Given the description of an element on the screen output the (x, y) to click on. 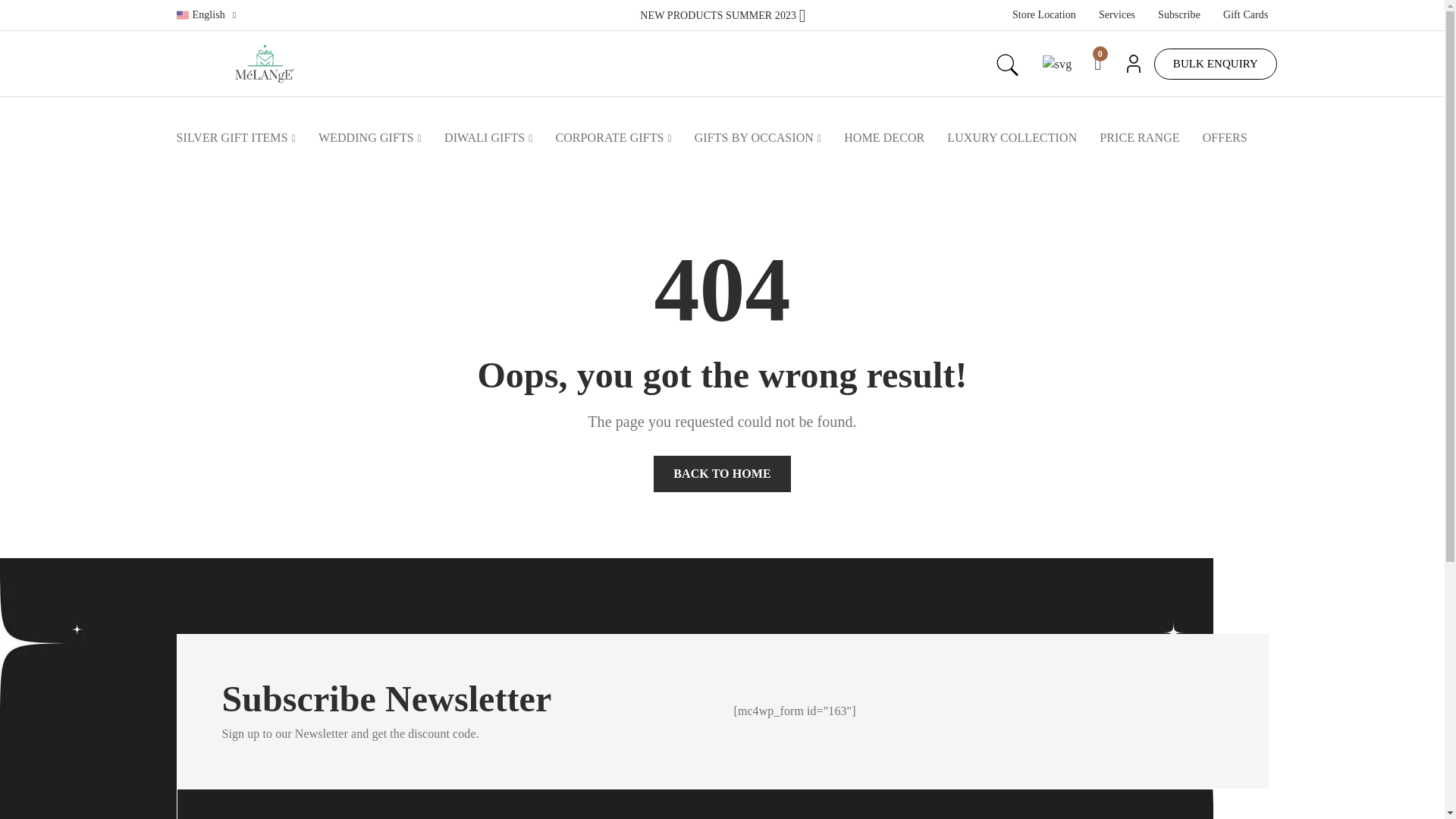
Store Location (1043, 14)
English (205, 15)
NEW PRODUCTS SUMMER 2023 (722, 14)
Services (1117, 14)
Subscribe (1178, 14)
Gift Cards (1245, 14)
